Given the description of an element on the screen output the (x, y) to click on. 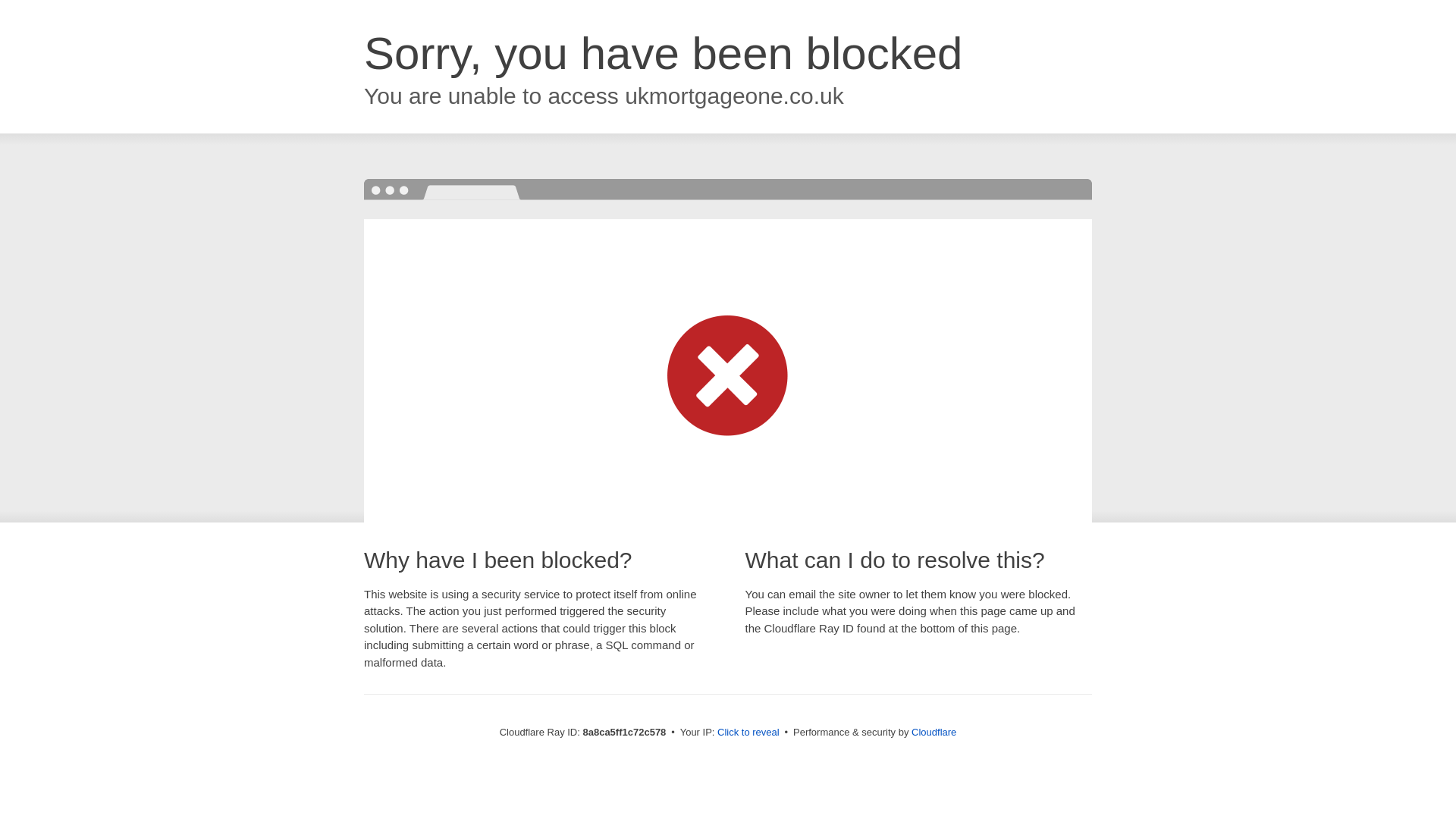
Cloudflare (933, 731)
Click to reveal (747, 732)
